Given the description of an element on the screen output the (x, y) to click on. 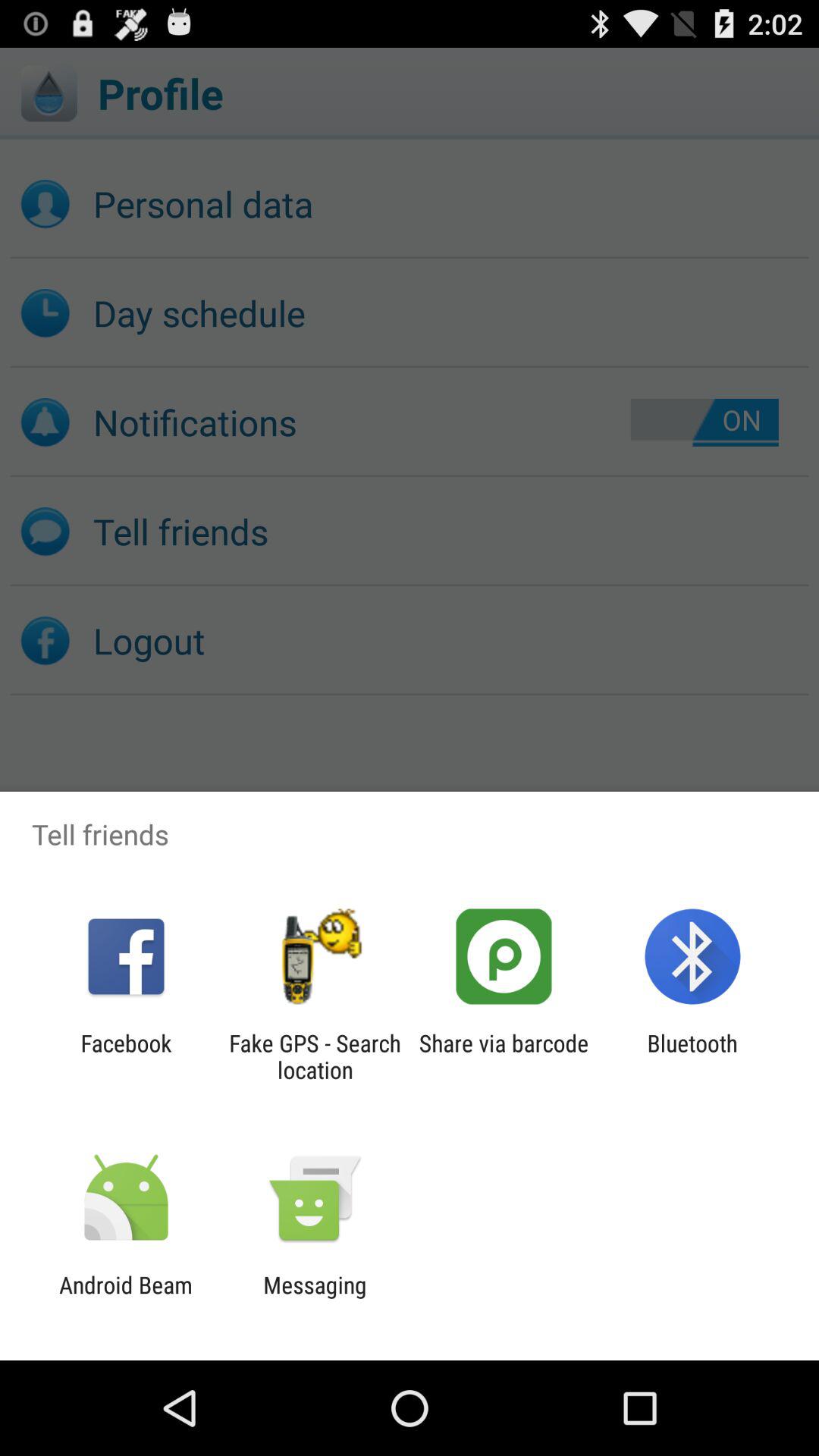
swipe to messaging item (314, 1298)
